Given the description of an element on the screen output the (x, y) to click on. 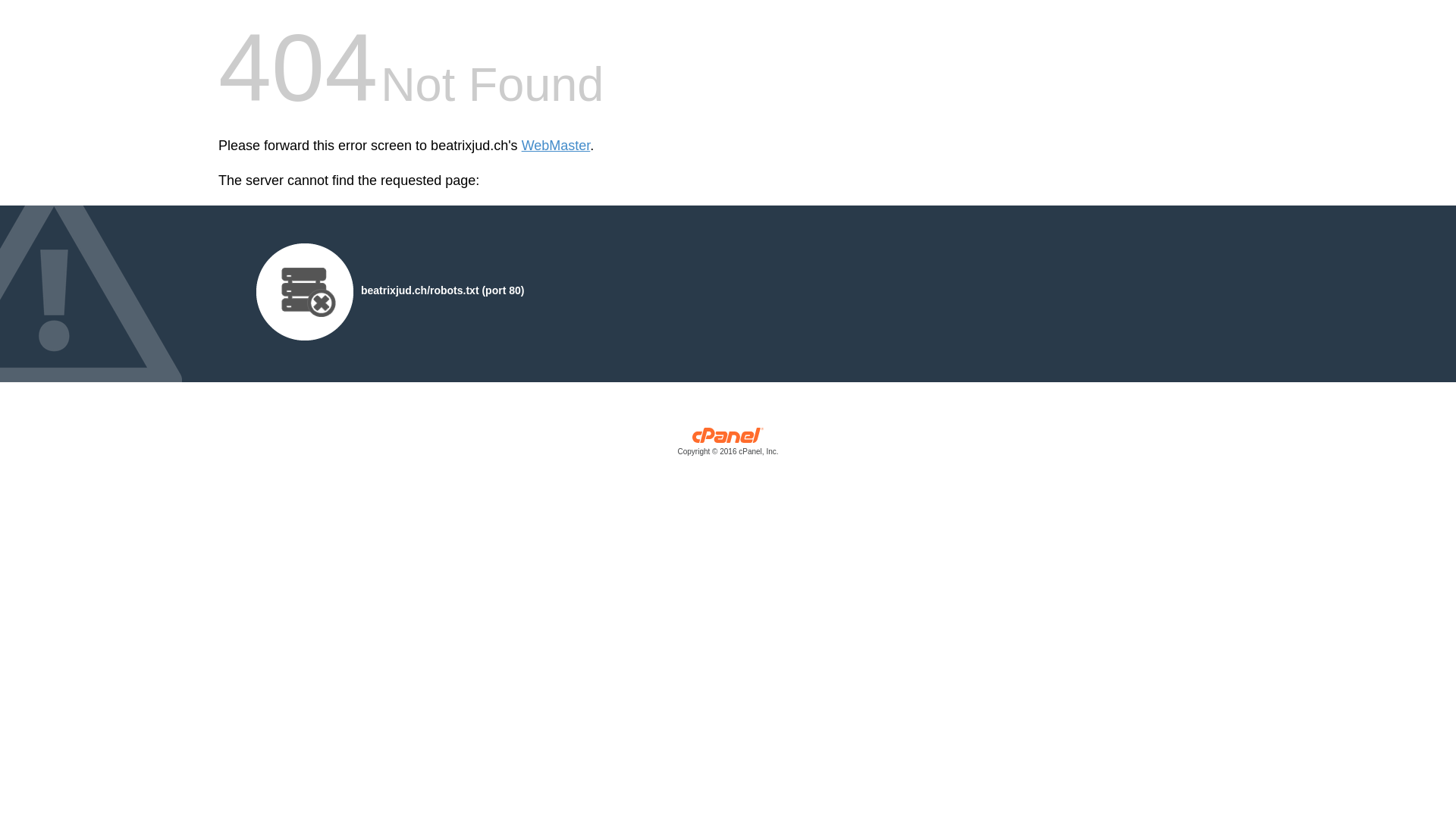
WebMaster Element type: text (555, 145)
